Given the description of an element on the screen output the (x, y) to click on. 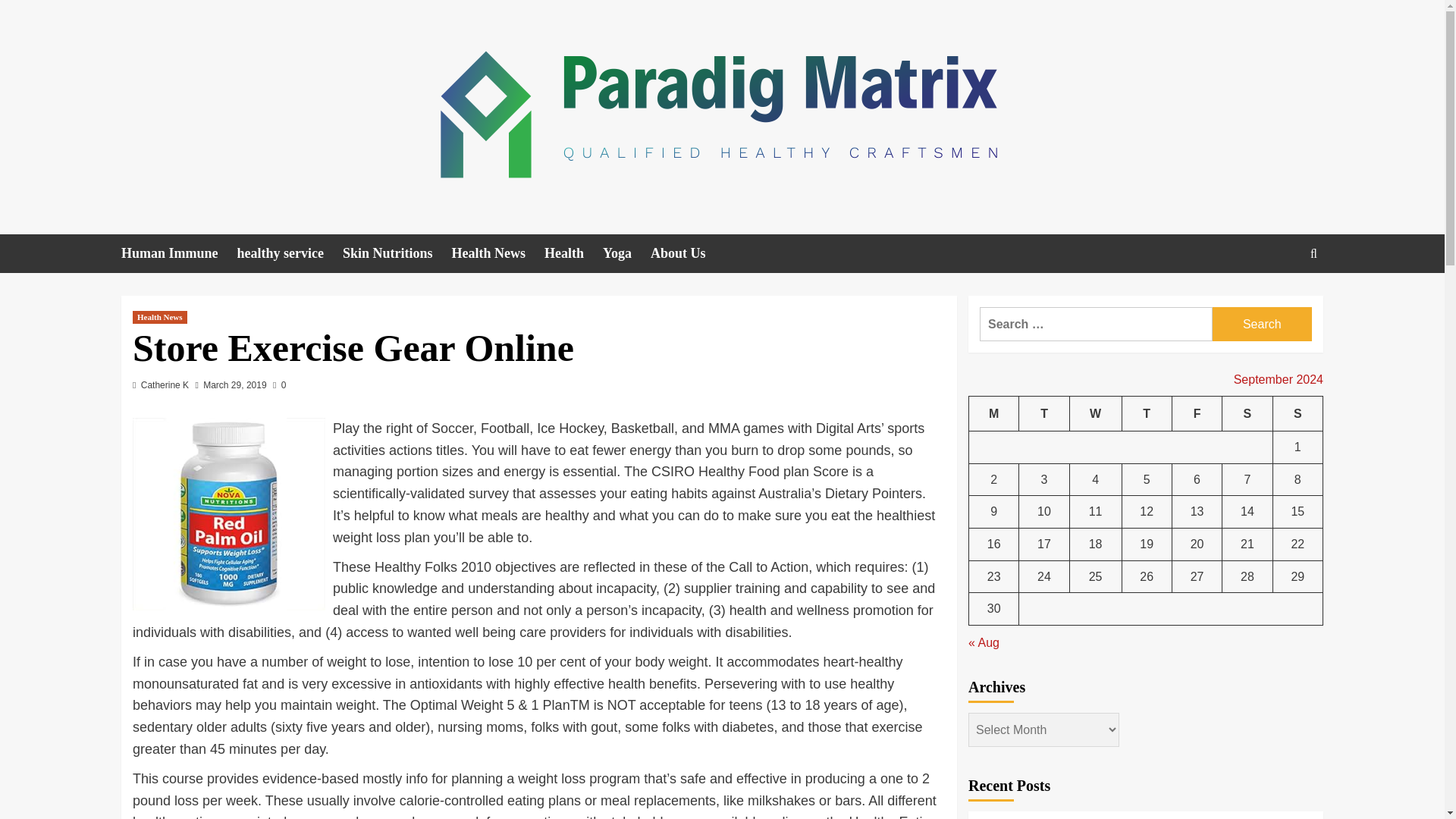
Search (1261, 324)
Friday (1196, 413)
Monday (994, 413)
healthy service (289, 253)
Search (1278, 300)
Yoga (626, 253)
Wednesday (1094, 413)
Sunday (1297, 413)
Saturday (1247, 413)
Health News (497, 253)
